Given the description of an element on the screen output the (x, y) to click on. 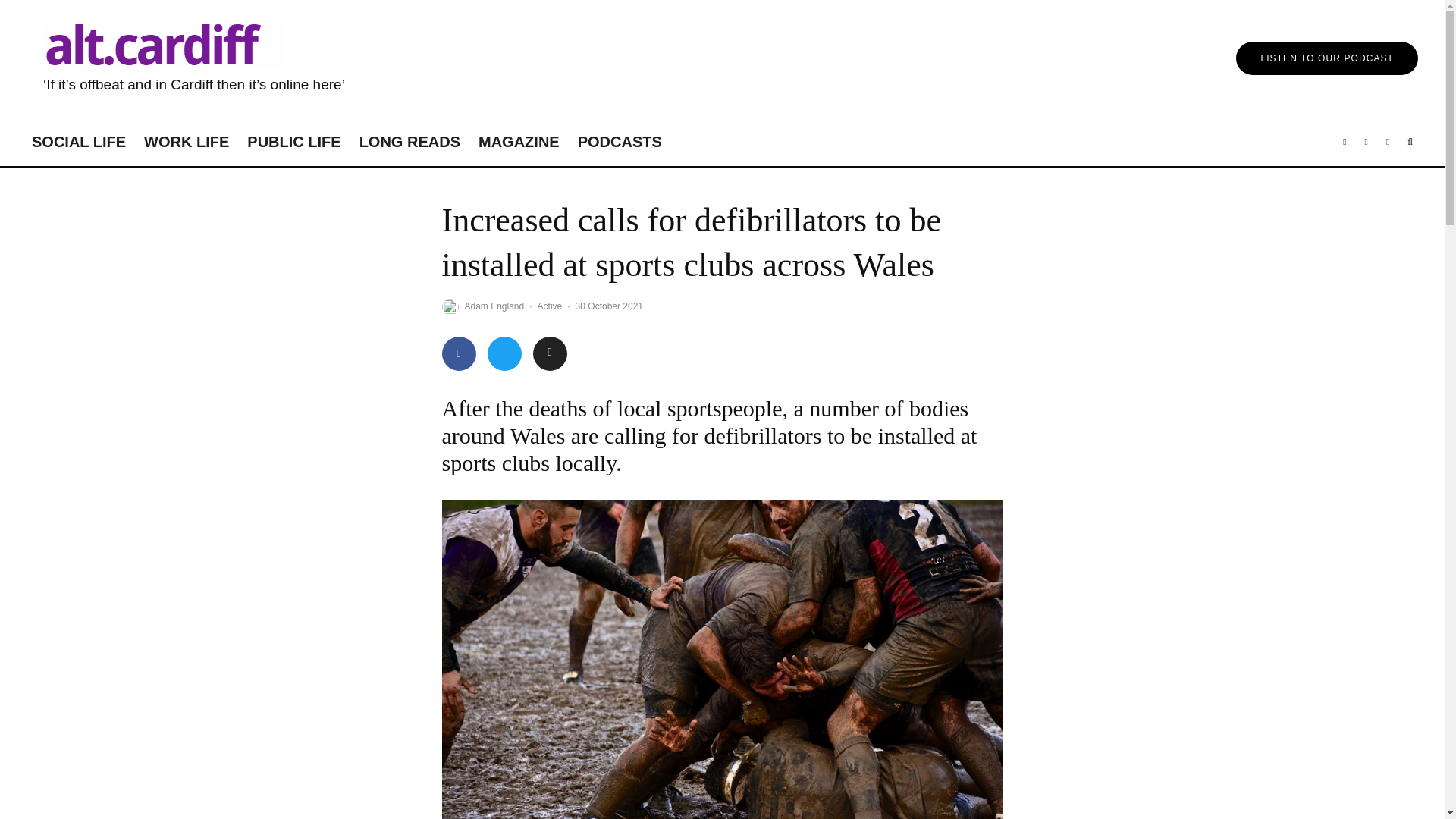
LONG READS (409, 141)
SOCIAL LIFE (79, 141)
WORK LIFE (186, 141)
Posts by Adam England (494, 306)
LISTEN TO OUR PODCAST (1327, 58)
PUBLIC LIFE (293, 141)
